Given the description of an element on the screen output the (x, y) to click on. 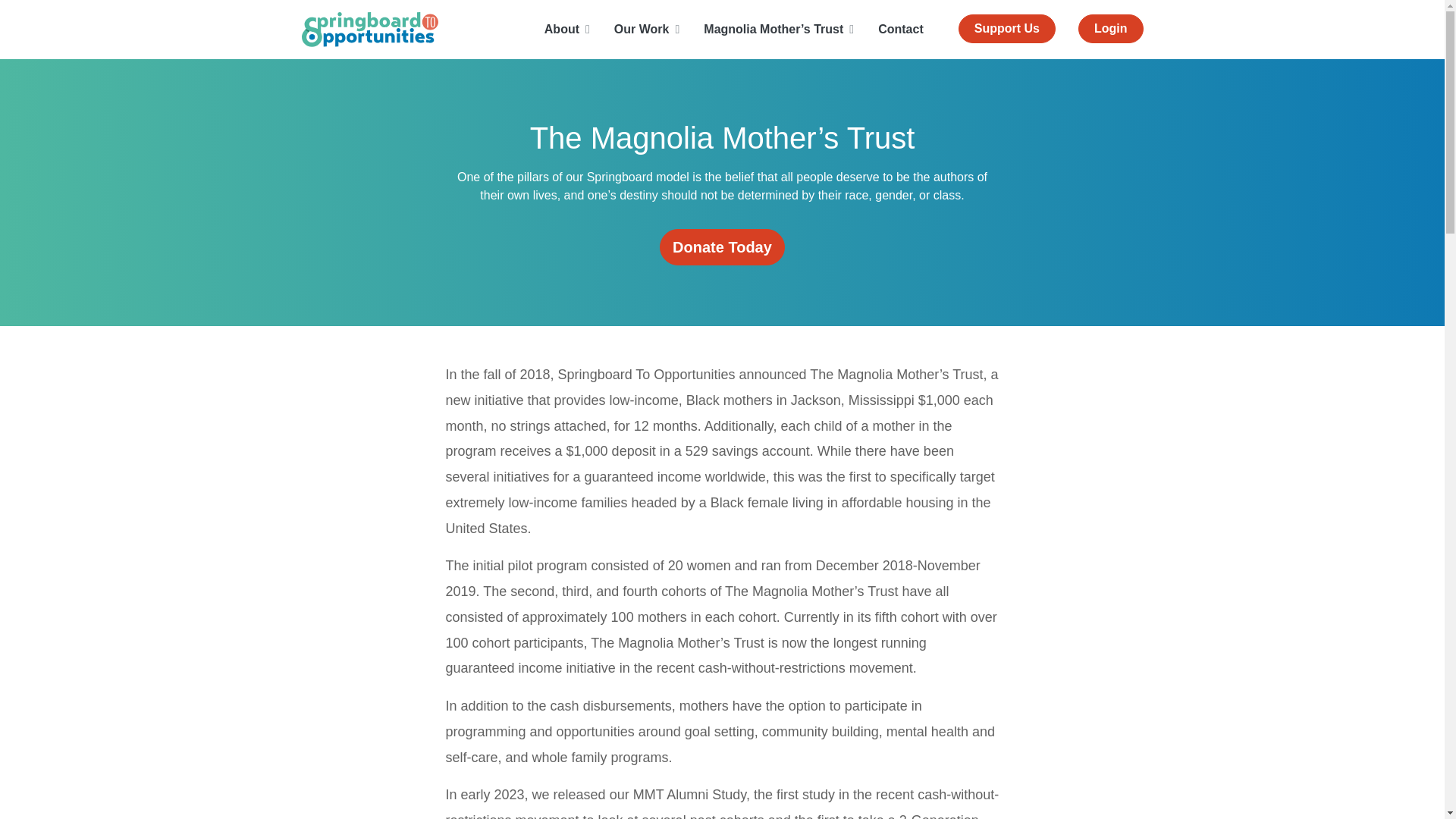
Login (1110, 28)
Contact (900, 29)
Our Work (646, 29)
Springboard to Opportunities (369, 28)
Donate Today (721, 247)
Support Us (1006, 28)
About (566, 29)
